Given the description of an element on the screen output the (x, y) to click on. 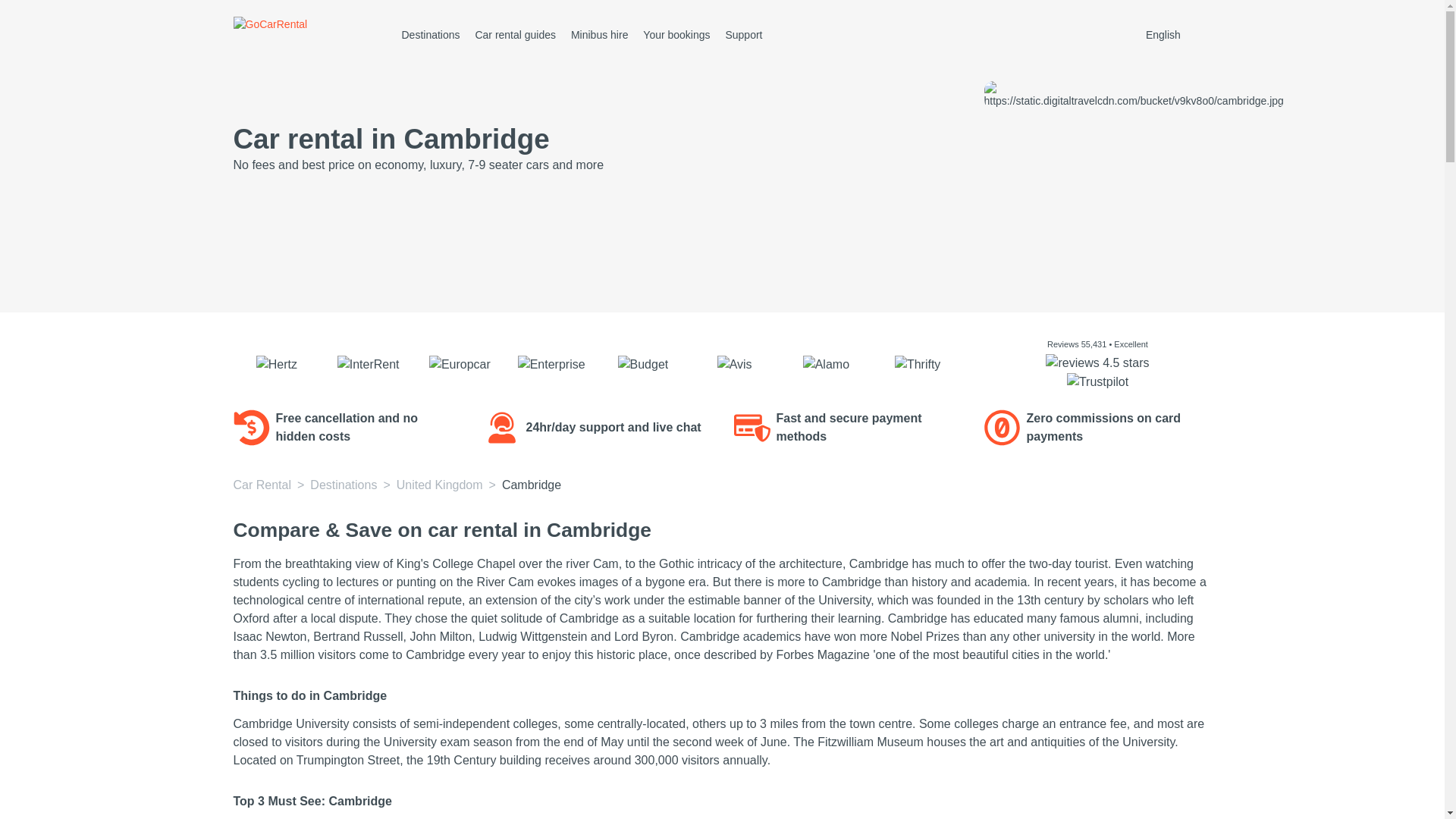
Car rental guides (515, 34)
Destinations (343, 484)
Support (743, 34)
Minibus hire (598, 34)
Destinations (430, 34)
Your bookings (676, 34)
Car Rental (261, 484)
United Kingdom (439, 484)
English (1176, 34)
